Given the description of an element on the screen output the (x, y) to click on. 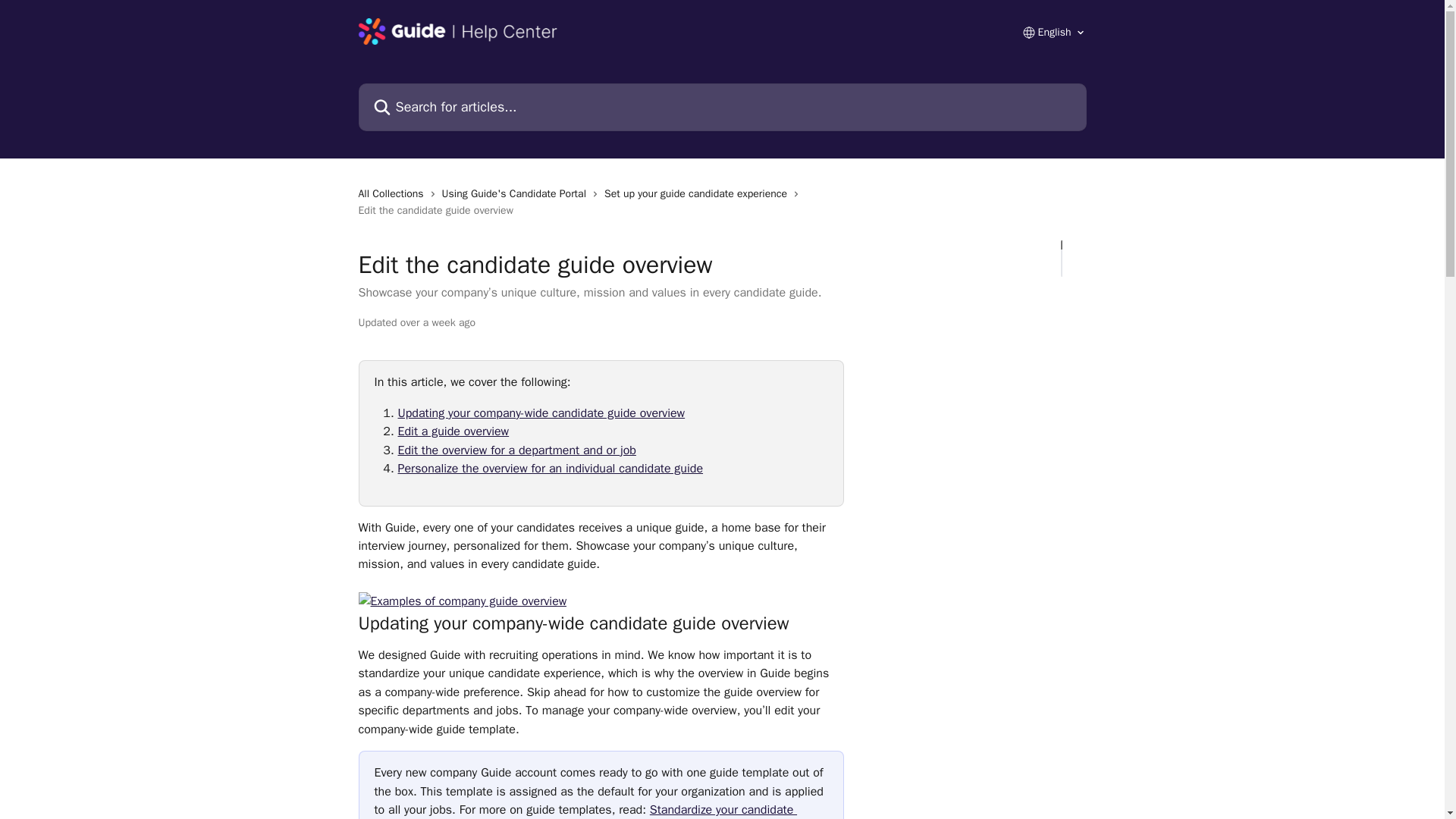
Personalize the overview for an individual candidate guide (550, 468)
Updating your company-wide candidate guide overview (540, 412)
All Collections (393, 193)
Using Guide's Candidate Portal (517, 193)
Edit a guide overview (452, 431)
Edit the overview for a department and or job (515, 450)
Set up your guide candidate experience (698, 193)
Standardize your candidate experience with guide templates (585, 810)
